Given the description of an element on the screen output the (x, y) to click on. 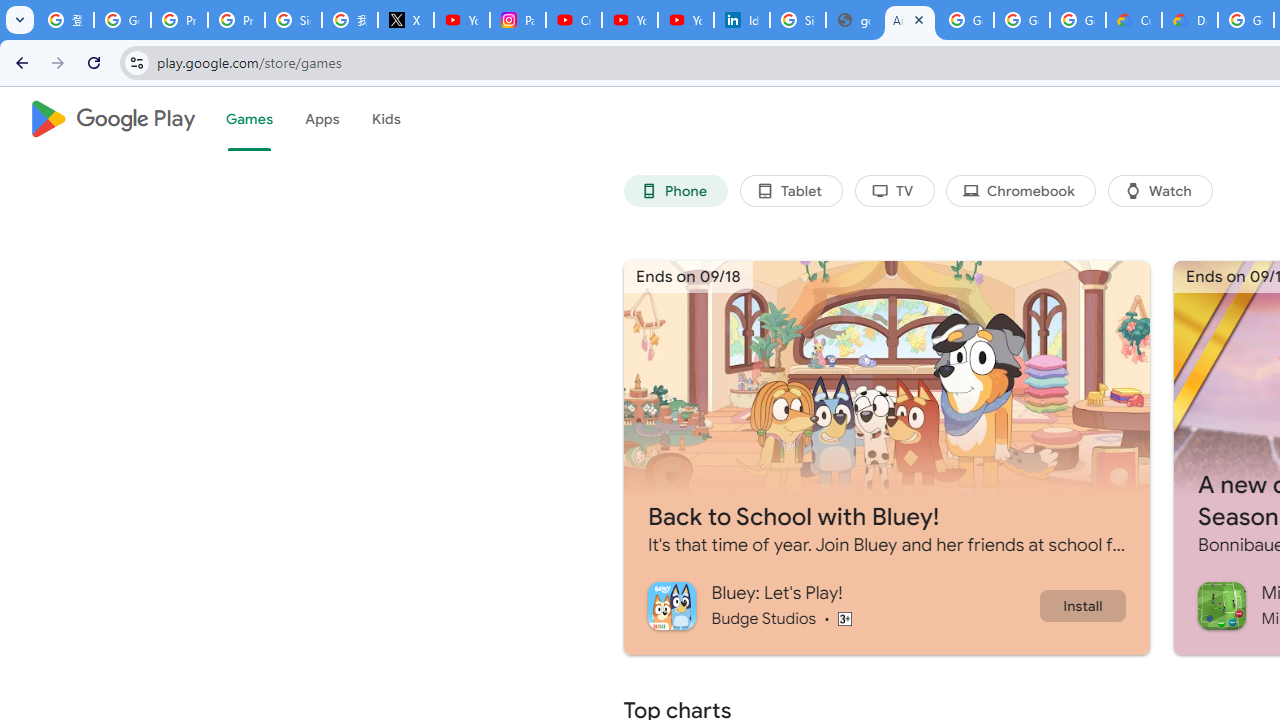
Kids (385, 119)
Bluey: Let's Play! Budge Studios Content rating Rated for 3+ (842, 605)
google_privacy_policy_en.pdf (853, 20)
Content rating Rated for 3+ (844, 618)
YouTube Content Monetization Policies - How YouTube Works (461, 20)
Google Play logo (111, 119)
X (405, 20)
